Given the description of an element on the screen output the (x, y) to click on. 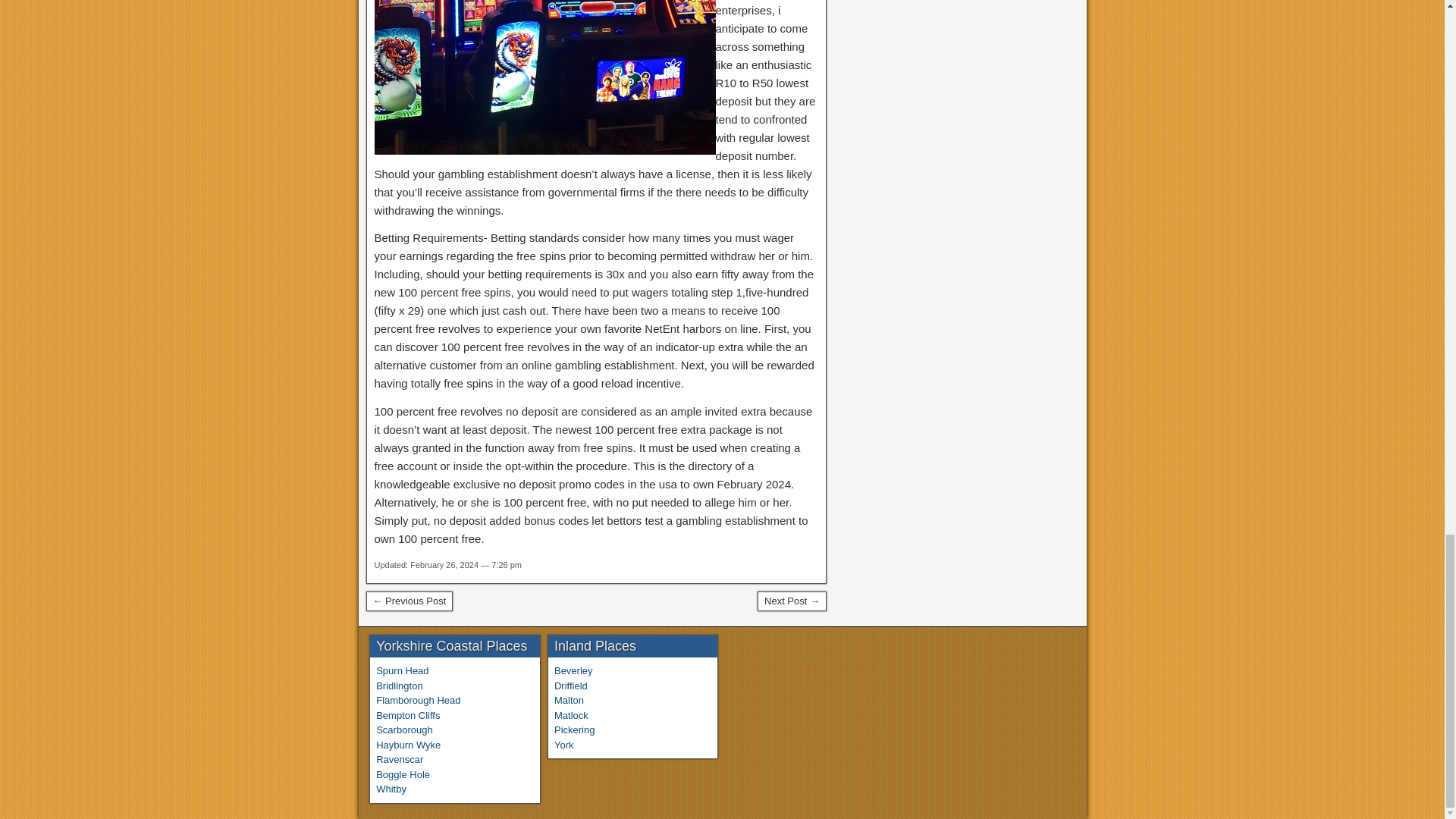
Beverley (573, 670)
Matlock (571, 715)
York (563, 745)
Scarborough (403, 729)
Driffield (571, 685)
Spurn Head (401, 670)
Whitby (390, 788)
Bempton Cliffs (407, 715)
Boggle Hole (402, 774)
Bridlington (398, 685)
Hayburn Wyke (408, 745)
Pickering (574, 729)
Flamborough Head (417, 699)
Ravenscar (399, 758)
